Given the description of an element on the screen output the (x, y) to click on. 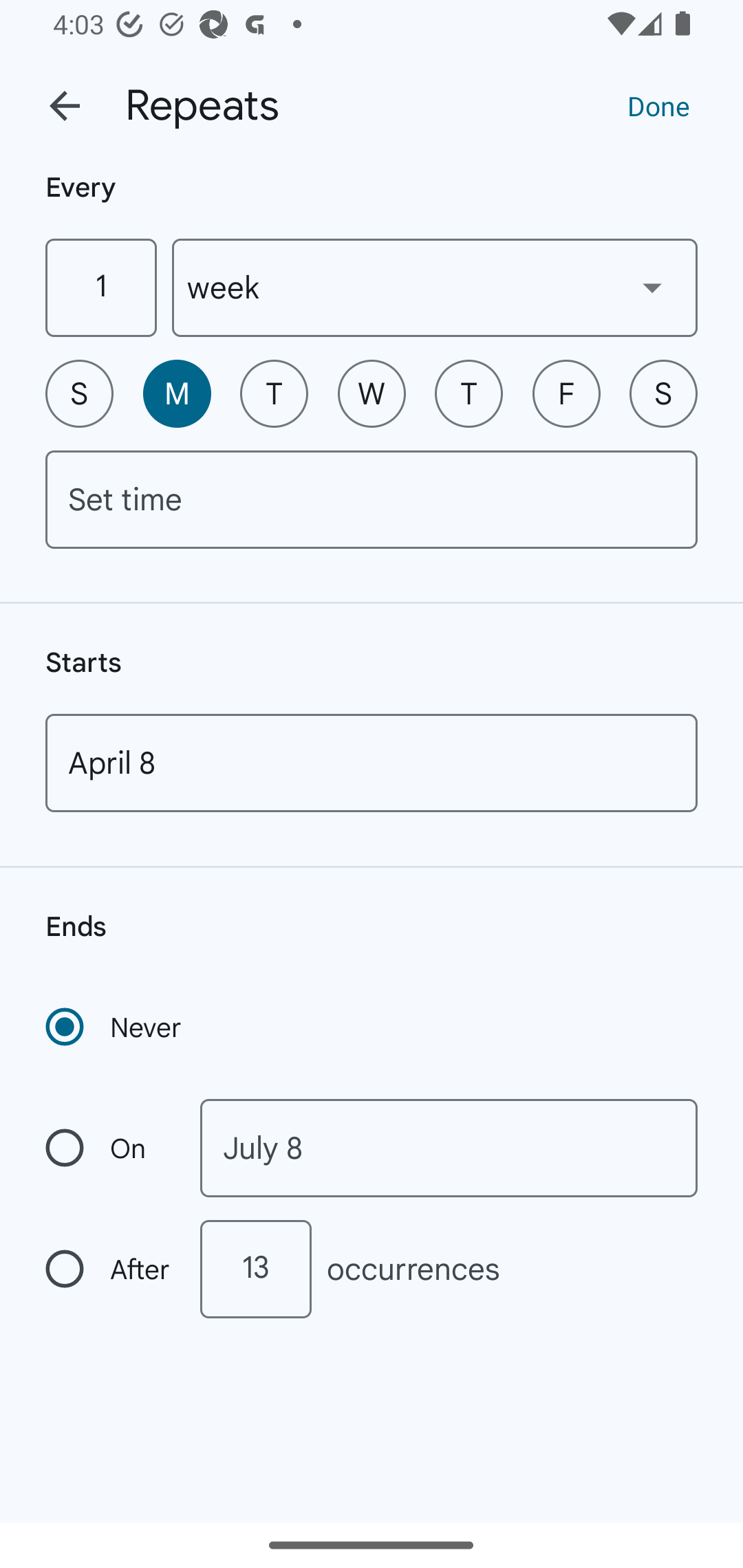
Back (64, 105)
Done (658, 105)
1 (100, 287)
week (434, 287)
Show dropdown menu (652, 286)
S Sunday (79, 393)
M Monday, selected (177, 393)
T Tuesday (273, 393)
W Wednesday (371, 393)
T Thursday (468, 393)
F Friday (566, 393)
S Saturday (663, 393)
Set time (371, 499)
April 8 (371, 762)
Never Recurrence never ends (115, 1026)
July 8 (448, 1148)
On Recurrence ends on a specific date (109, 1148)
13 (255, 1268)
